Given the description of an element on the screen output the (x, y) to click on. 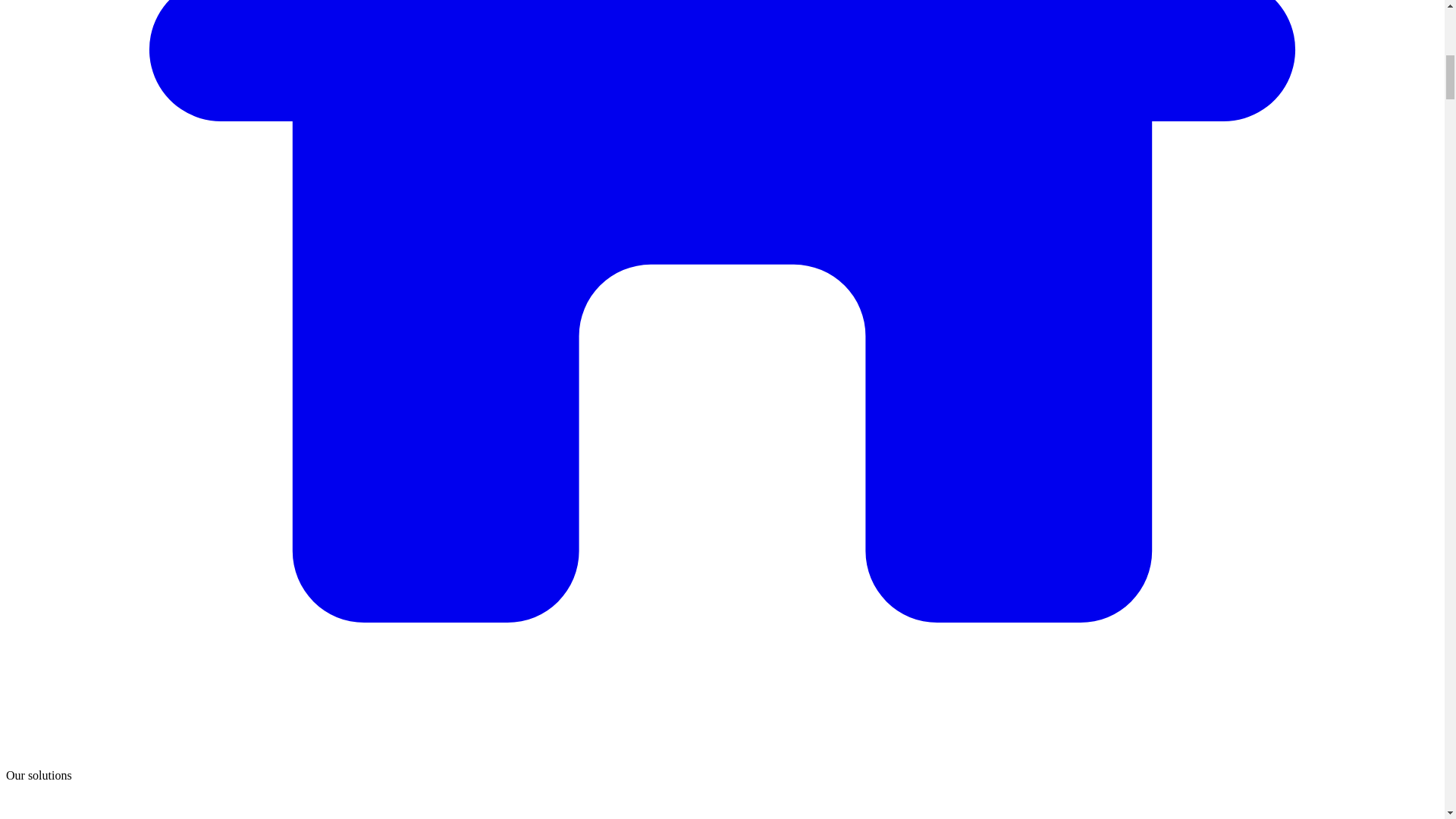
Our solutions (38, 775)
